Given the description of an element on the screen output the (x, y) to click on. 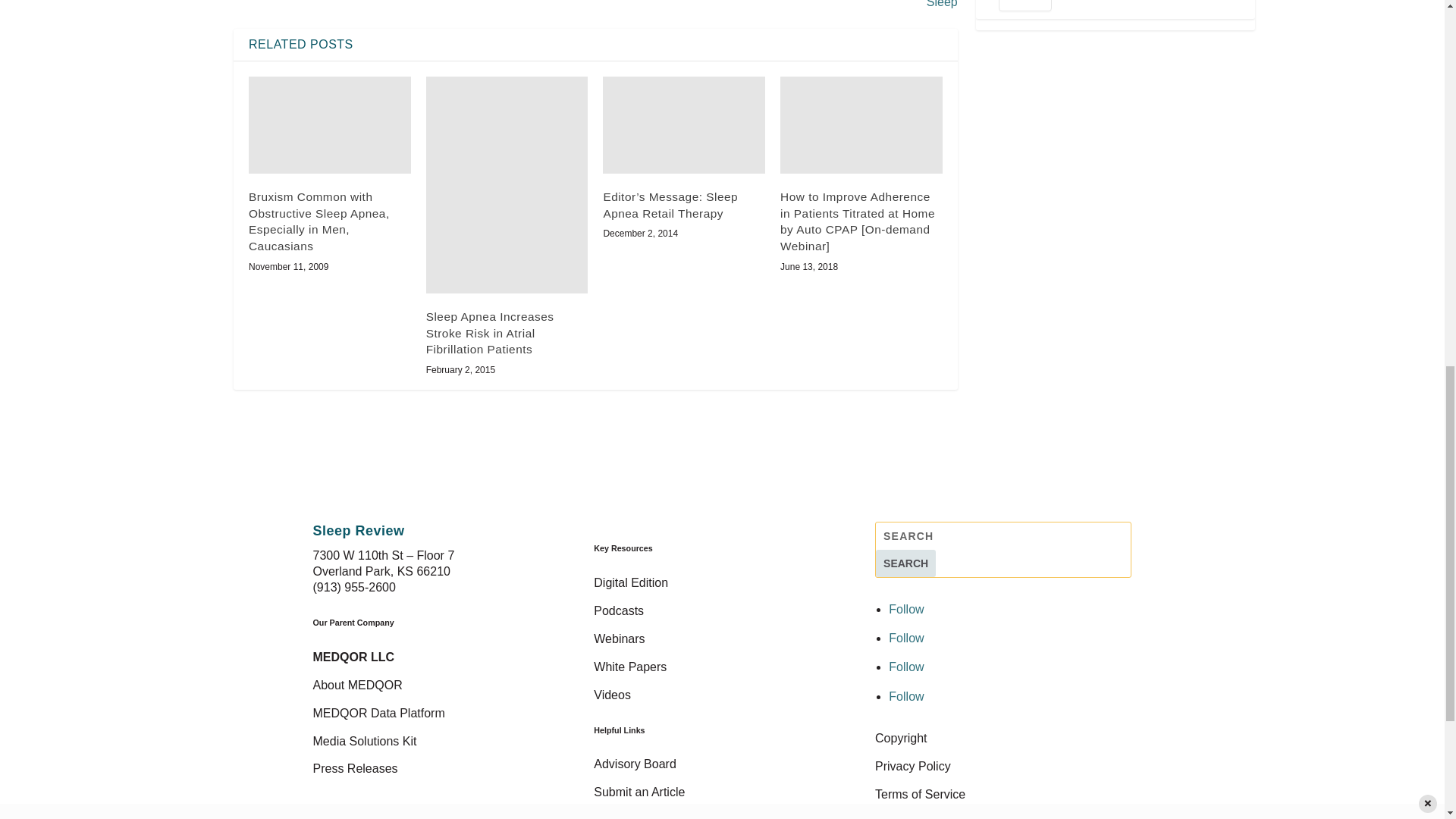
Search (906, 563)
Follow on X (905, 637)
Follow on LinkedIn (905, 666)
Search (906, 563)
Follow on Facebook (905, 608)
Follow on Youtube (905, 696)
